Given the description of an element on the screen output the (x, y) to click on. 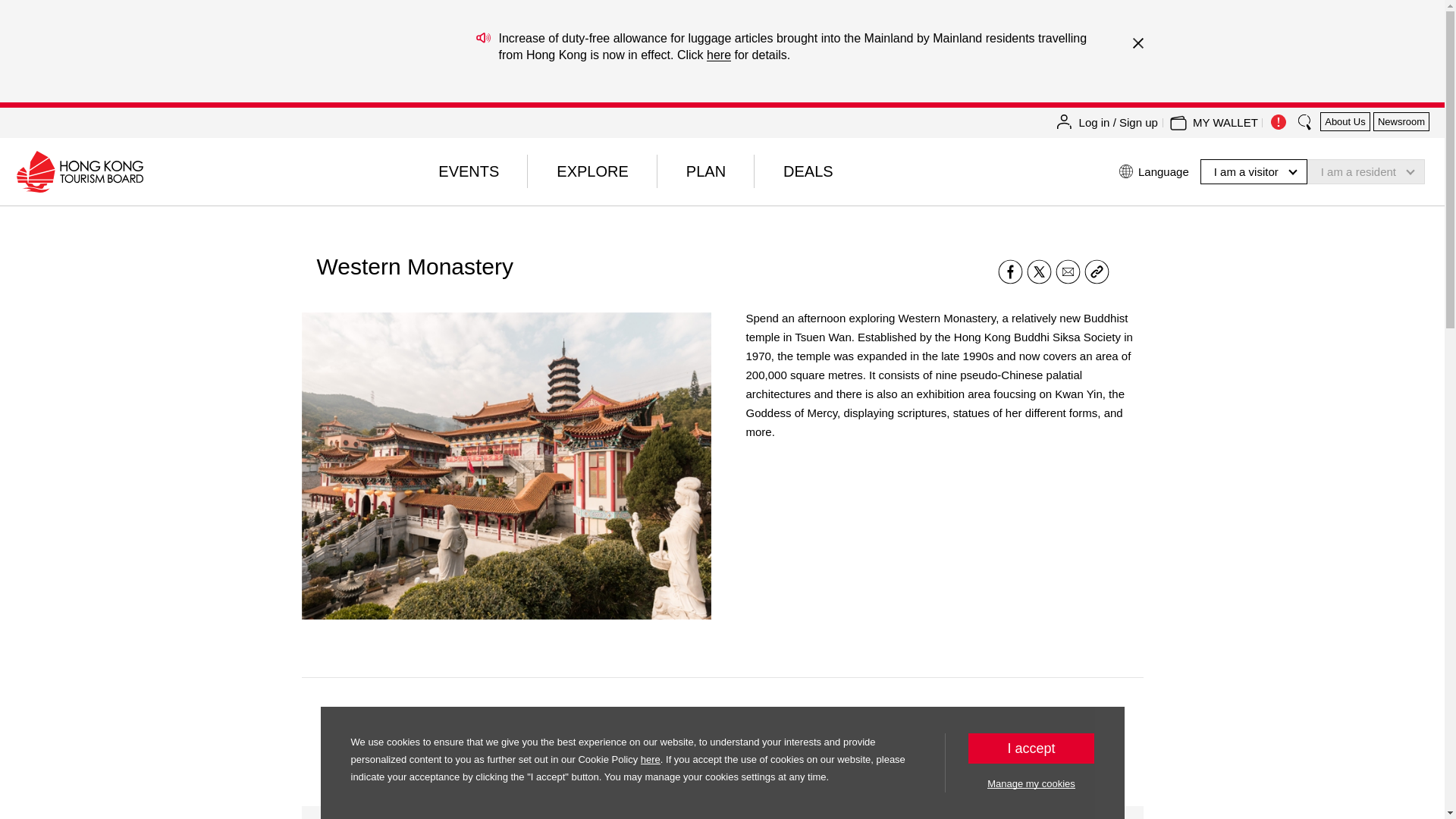
EXPLORE (591, 171)
Hong Kong Tourism Board (79, 171)
Newsroom (1401, 121)
here (718, 54)
About Us (1345, 121)
MY WALLET (1224, 122)
PLAN (706, 171)
